Given the description of an element on the screen output the (x, y) to click on. 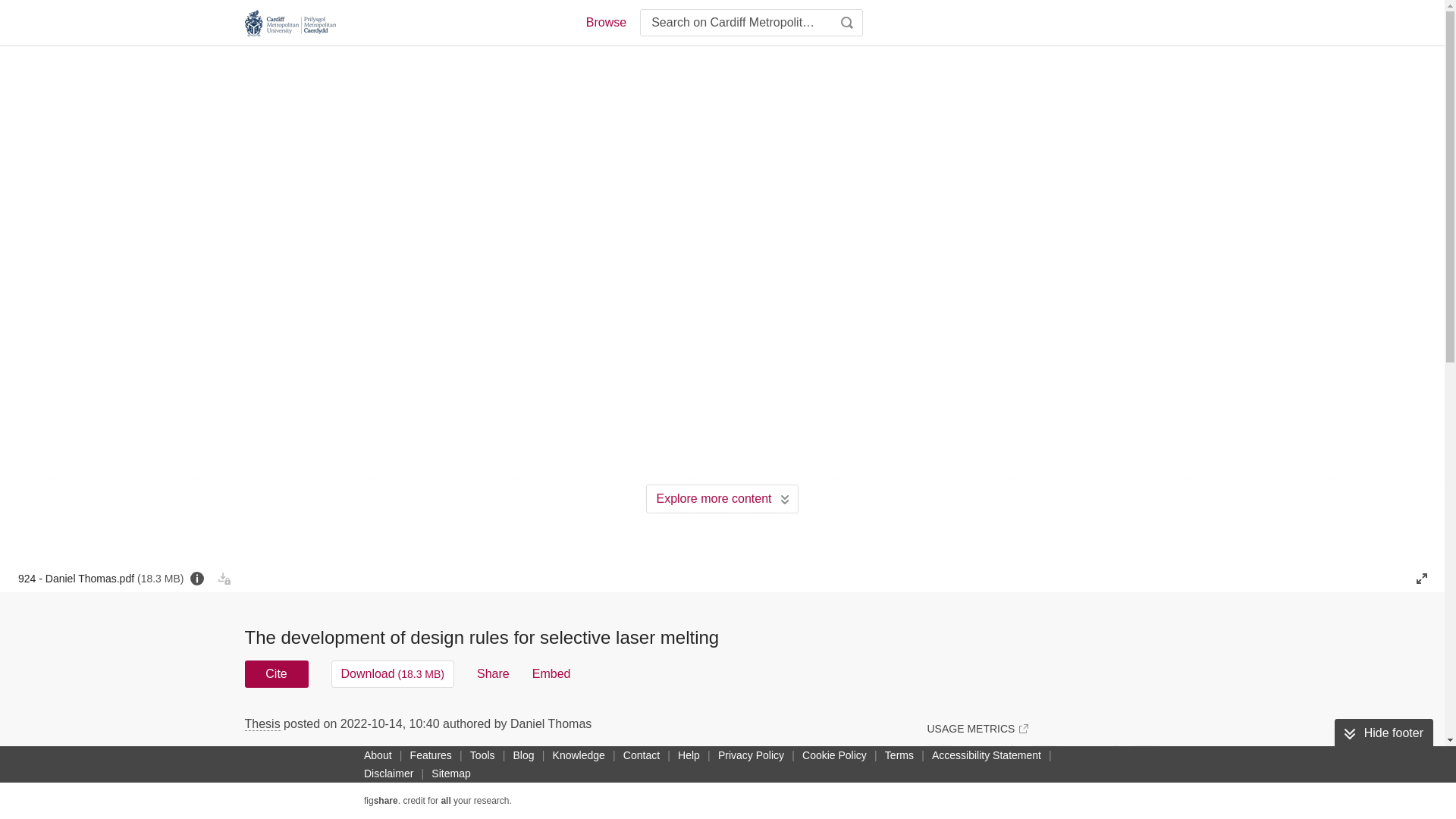
Privacy Policy (751, 755)
Embed (551, 673)
USAGE METRICS (976, 728)
About (377, 755)
Accessibility Statement (986, 755)
Help (688, 755)
Tools (482, 755)
Cite (275, 673)
Contact (640, 755)
Features (431, 755)
Browse (605, 22)
Explore more content (721, 498)
Knowledge (579, 755)
Cookie Policy (833, 755)
